Given the description of an element on the screen output the (x, y) to click on. 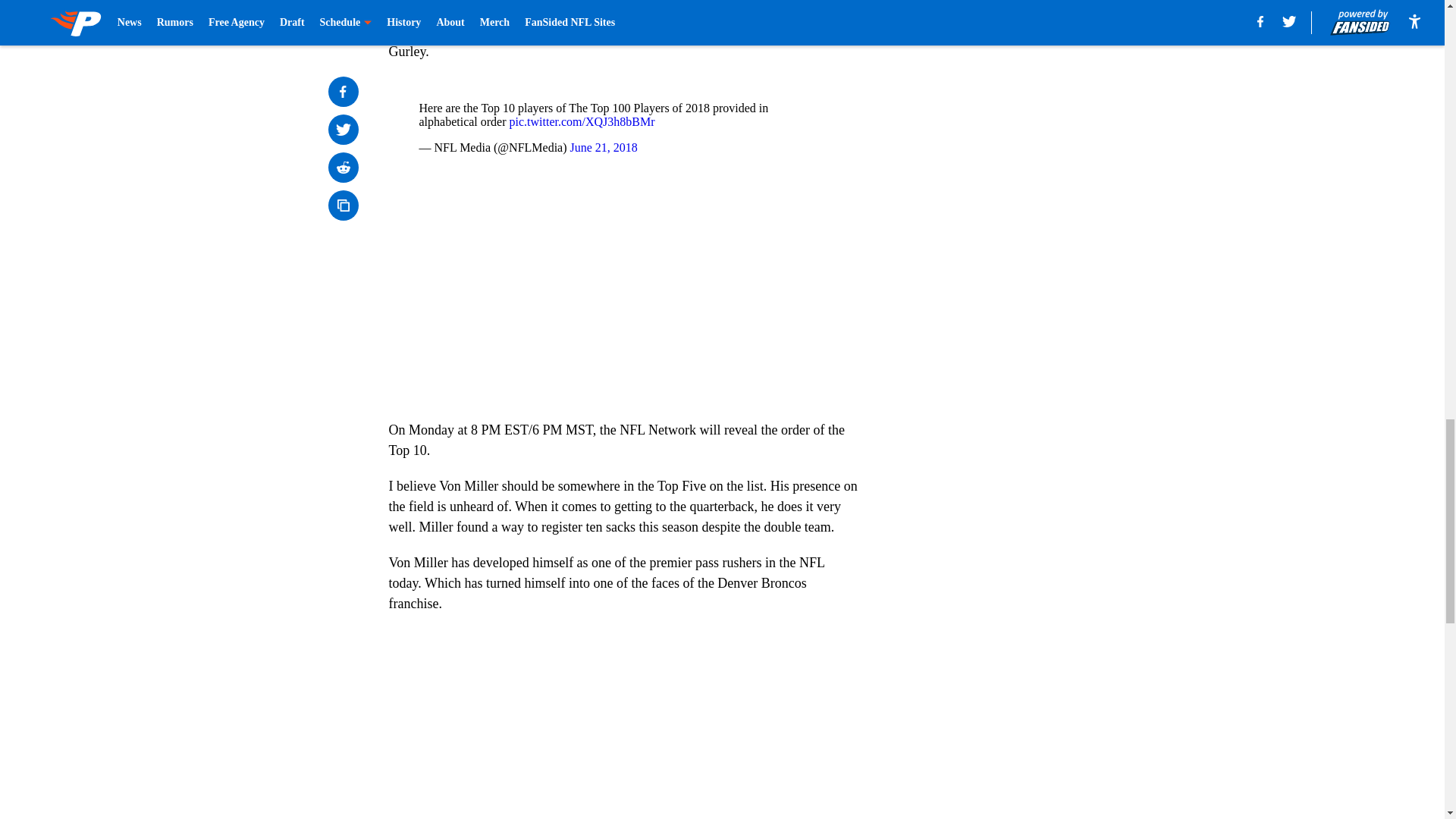
June 21, 2018 (603, 146)
